Given the description of an element on the screen output the (x, y) to click on. 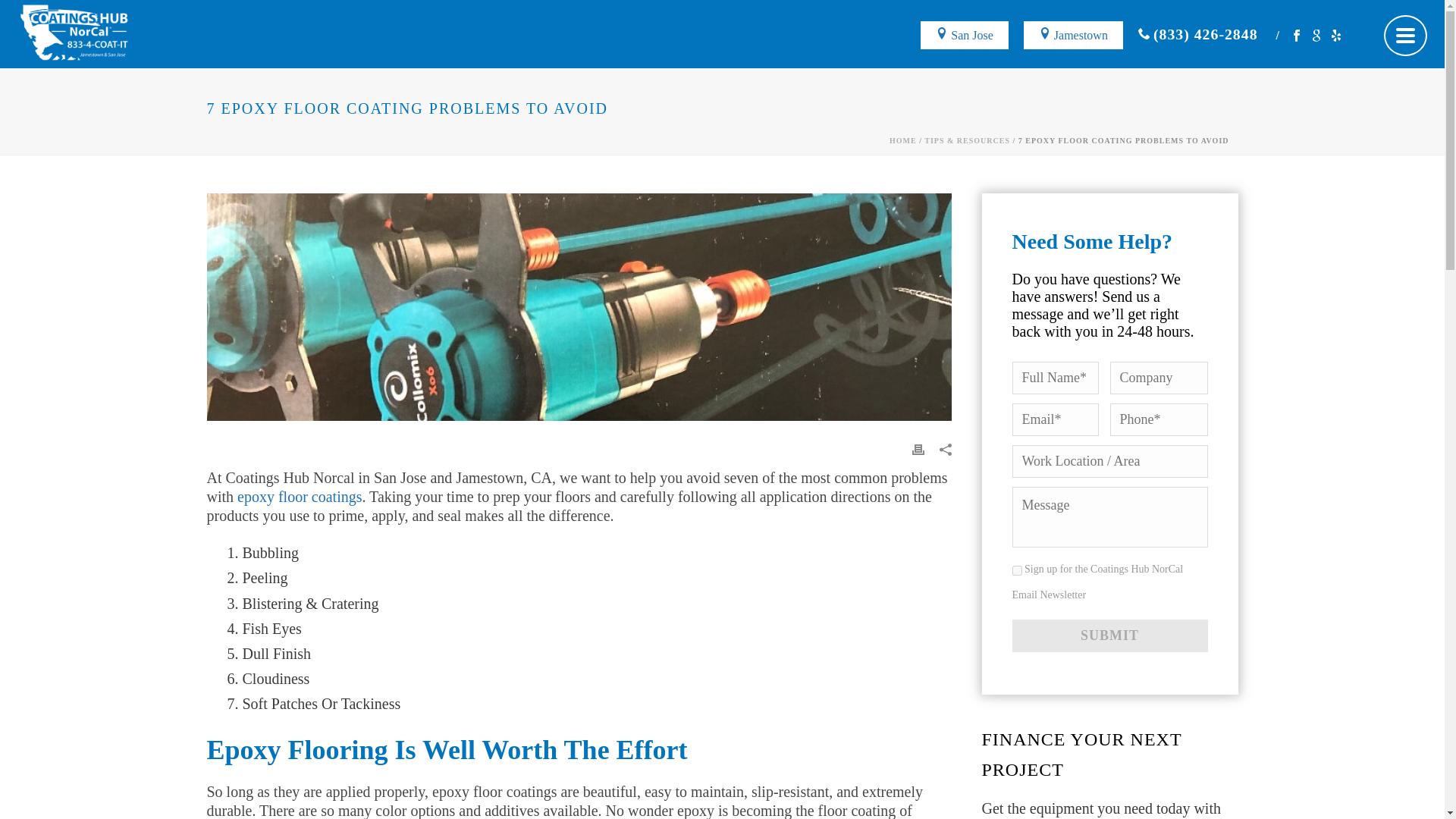
San Jose (971, 33)
1 (1016, 570)
Submit (1109, 635)
Submit (1109, 635)
HOME (903, 140)
epoxy floor coatings (299, 496)
Jamestown (1080, 33)
